Given the description of an element on the screen output the (x, y) to click on. 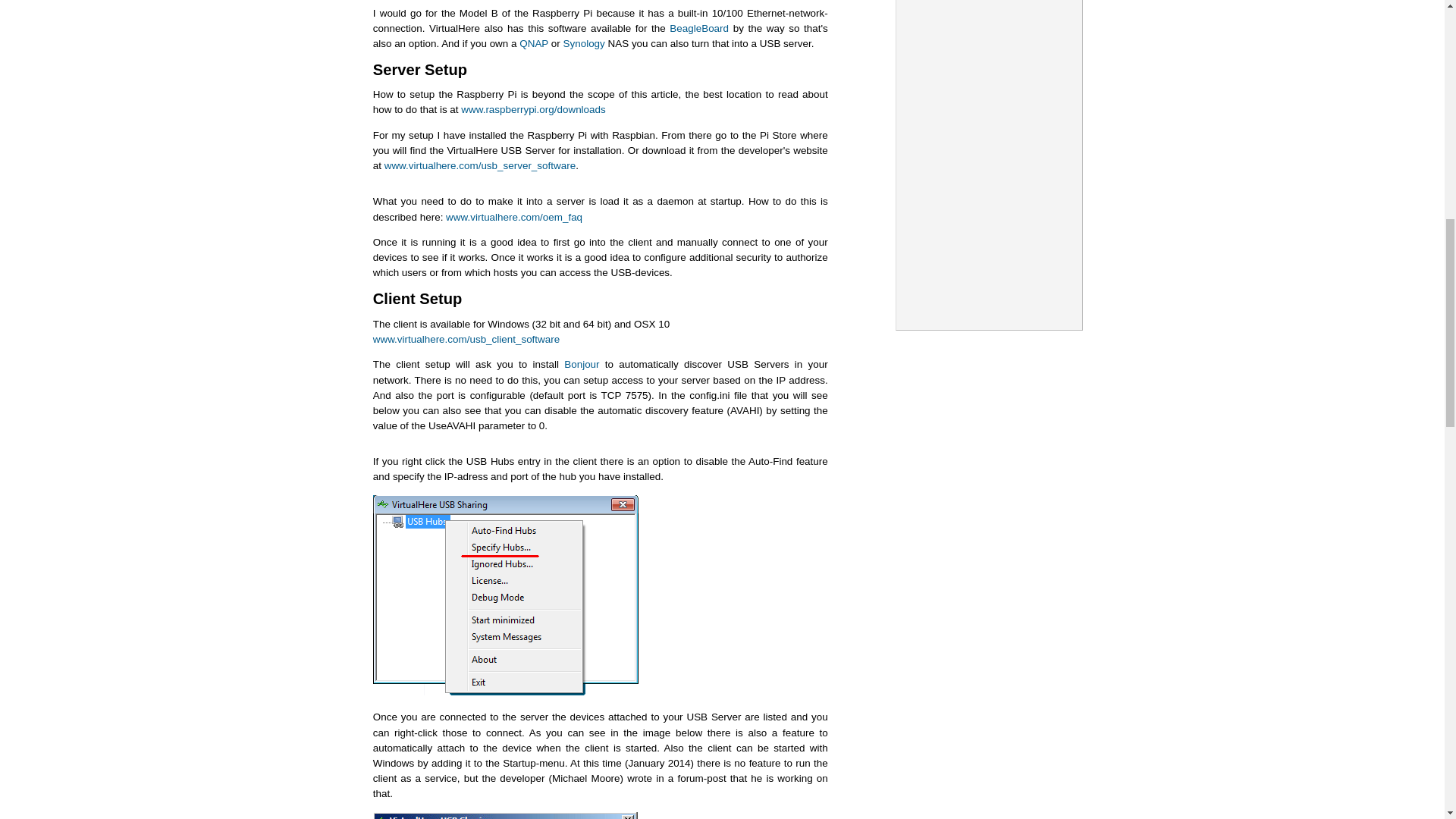
Synology (584, 43)
QNAP (533, 43)
Bonjour (581, 364)
BeagleBoard (699, 28)
